Given the description of an element on the screen output the (x, y) to click on. 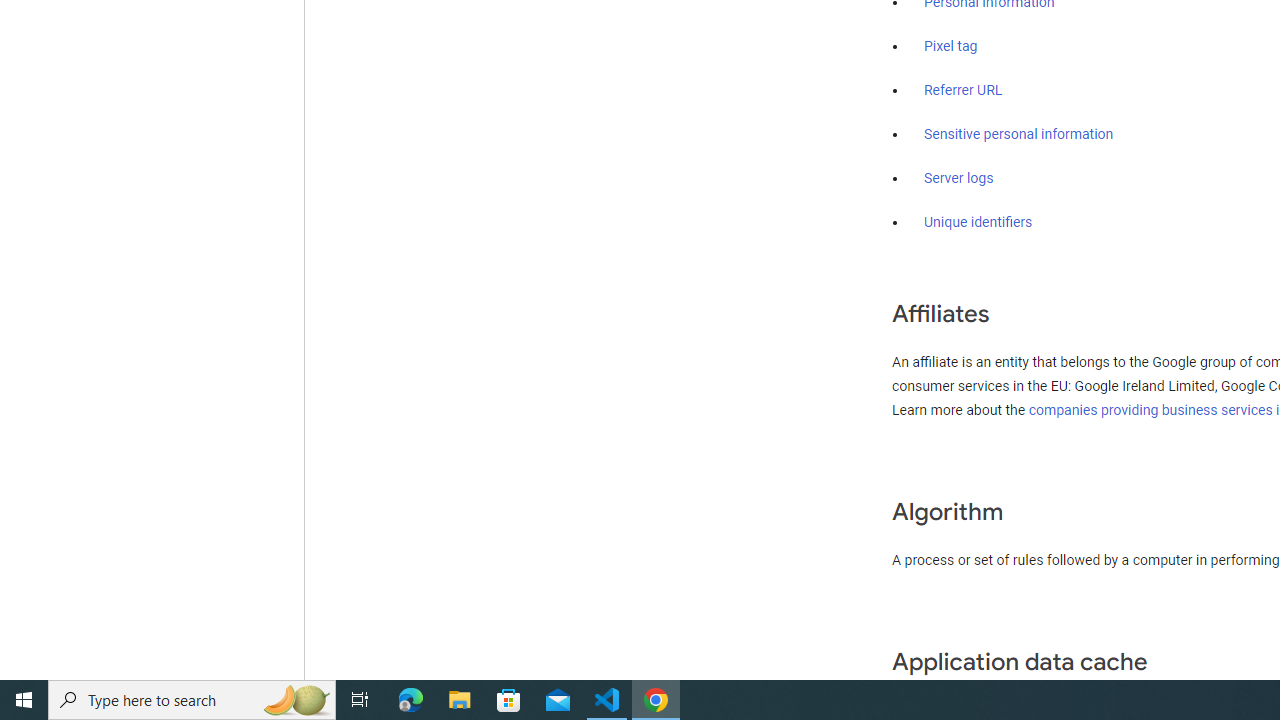
Pixel tag (950, 47)
Server logs (959, 178)
Referrer URL (963, 91)
Unique identifiers (978, 222)
Sensitive personal information (1018, 134)
